Given the description of an element on the screen output the (x, y) to click on. 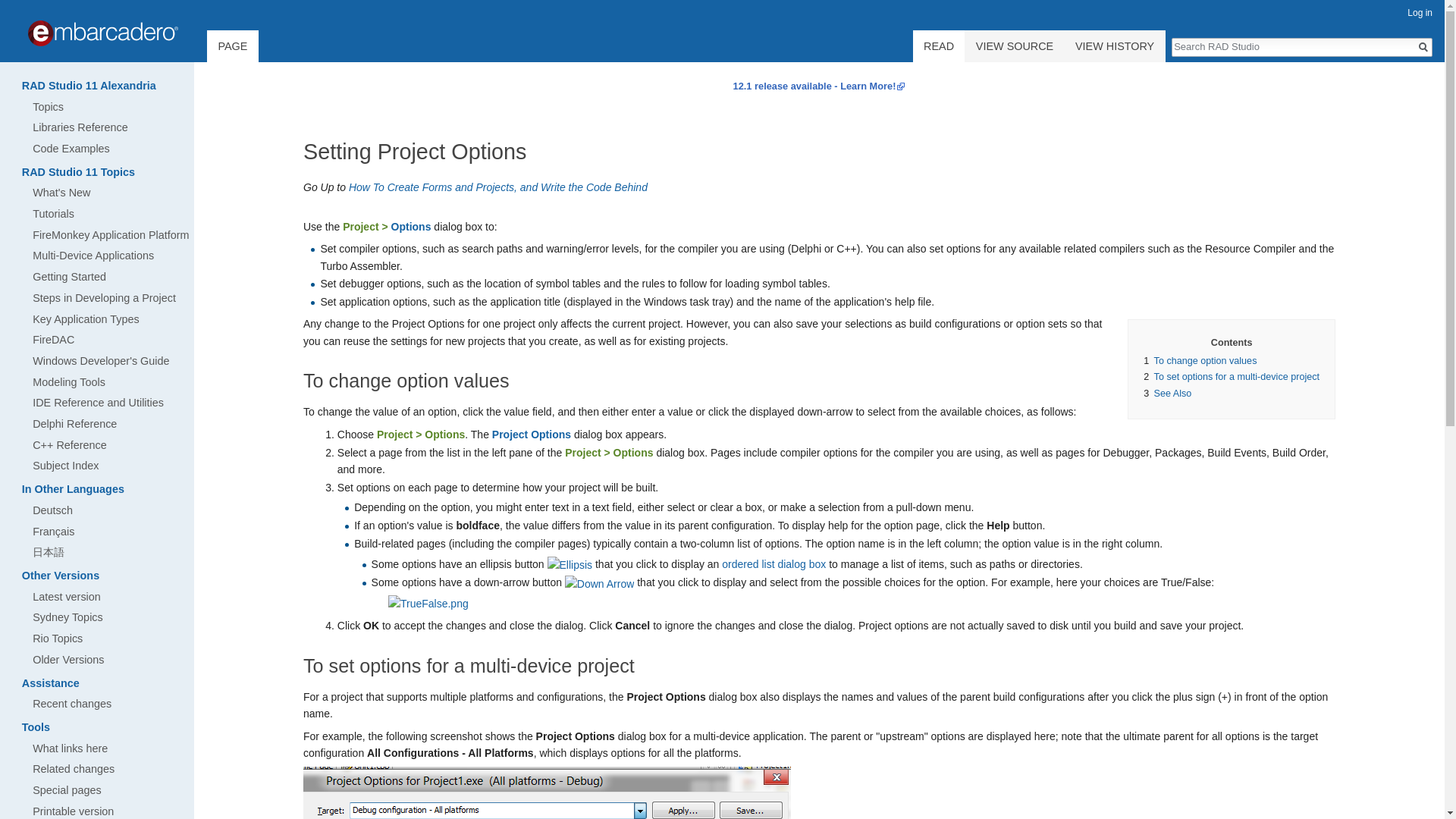
PAGE (232, 51)
12.1 release available - Learn More! (819, 85)
VIEW SOURCE (1013, 46)
1 To change option values (1199, 360)
Project Options (531, 434)
READ (938, 51)
Go (1423, 46)
VIEW HISTORY (1115, 46)
Project Options Dialog Box (410, 226)
Down Arrow (598, 582)
